Given the description of an element on the screen output the (x, y) to click on. 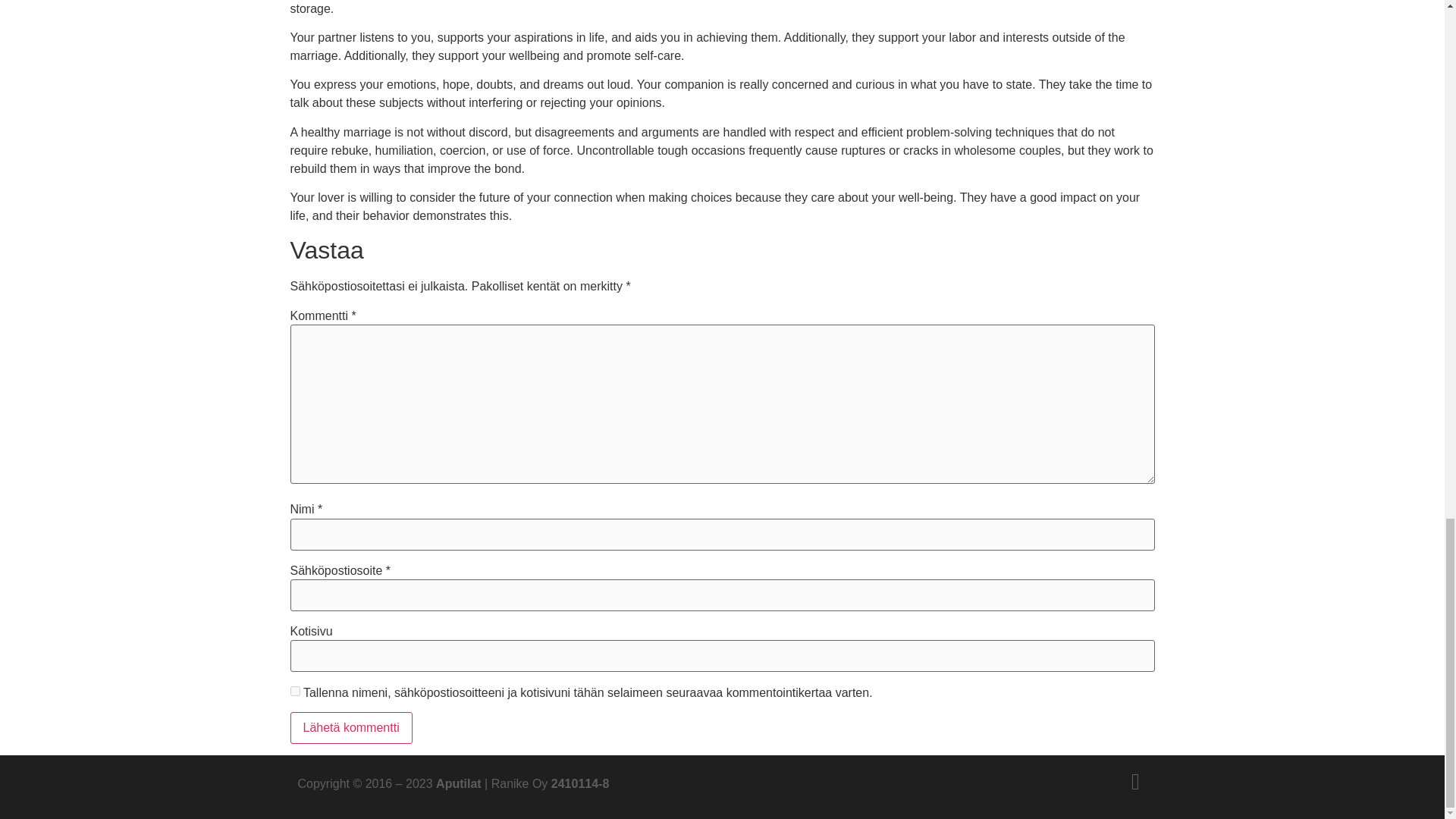
Aputilat (458, 783)
yes (294, 691)
2410114-8 (580, 783)
